Given the description of an element on the screen output the (x, y) to click on. 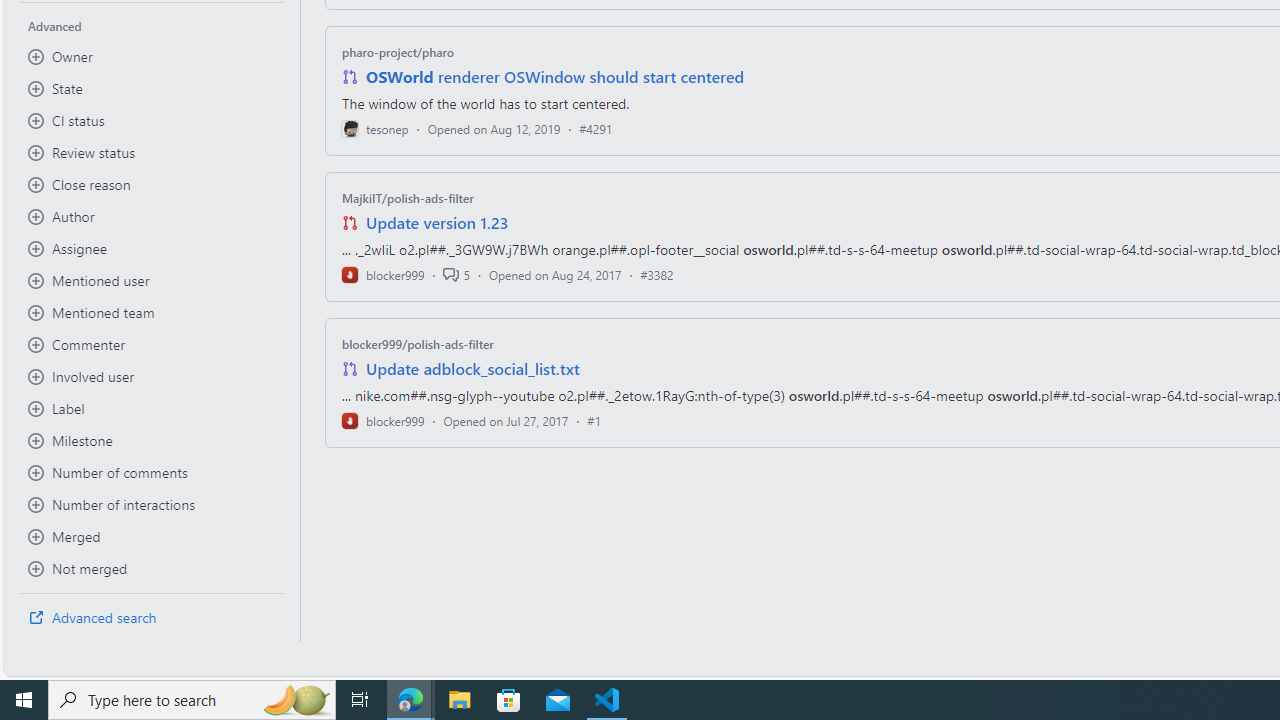
pharo-project/pharo (397, 52)
#1 (594, 420)
#3382 (657, 273)
#1 (594, 420)
